Given the description of an element on the screen output the (x, y) to click on. 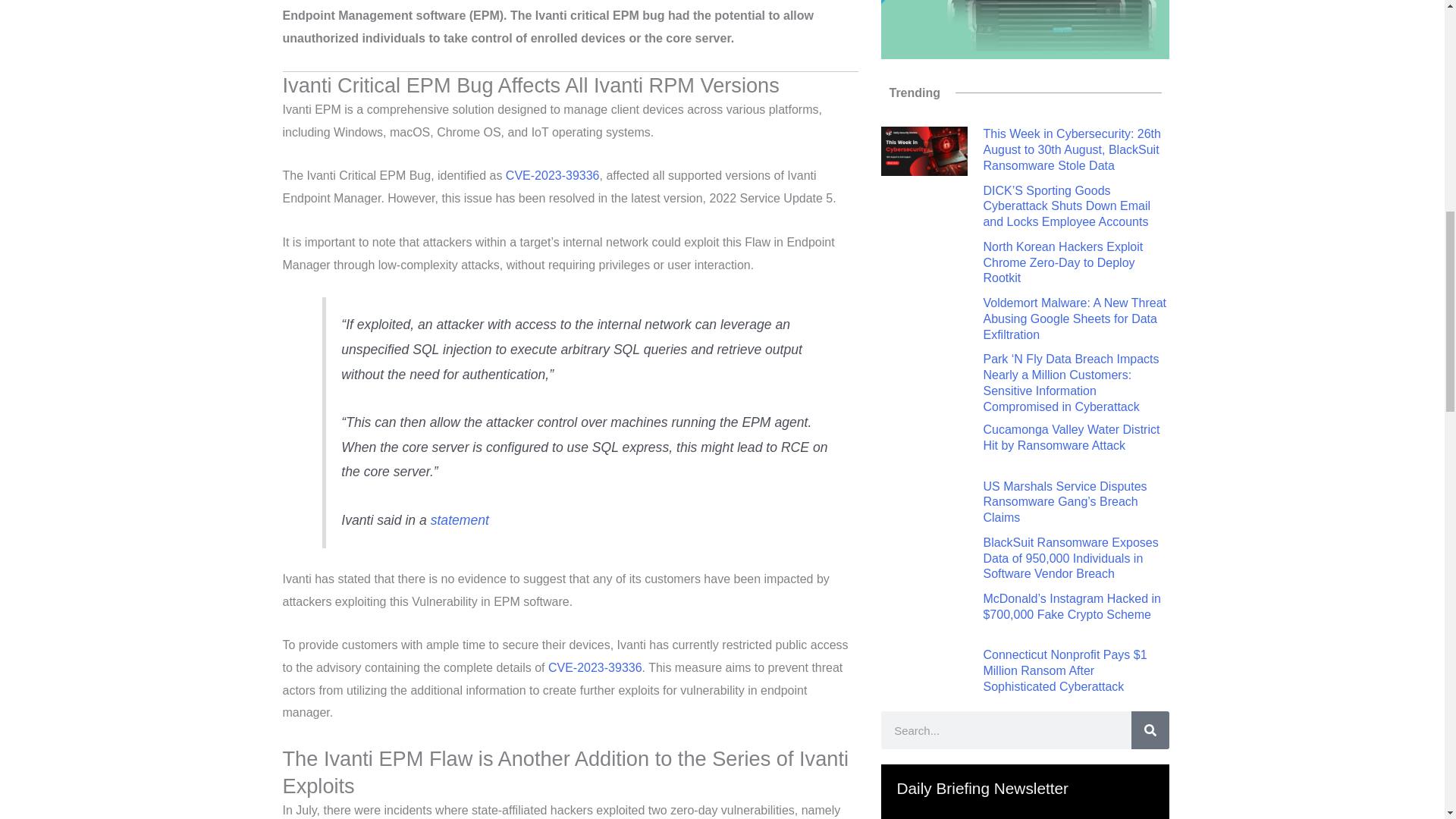
CVE-2023-39336 (552, 174)
statement (459, 519)
CVE-2023-39336 (595, 667)
Cucamonga Valley Water District Hit by Ransomware Attack (1070, 437)
